Given the description of an element on the screen output the (x, y) to click on. 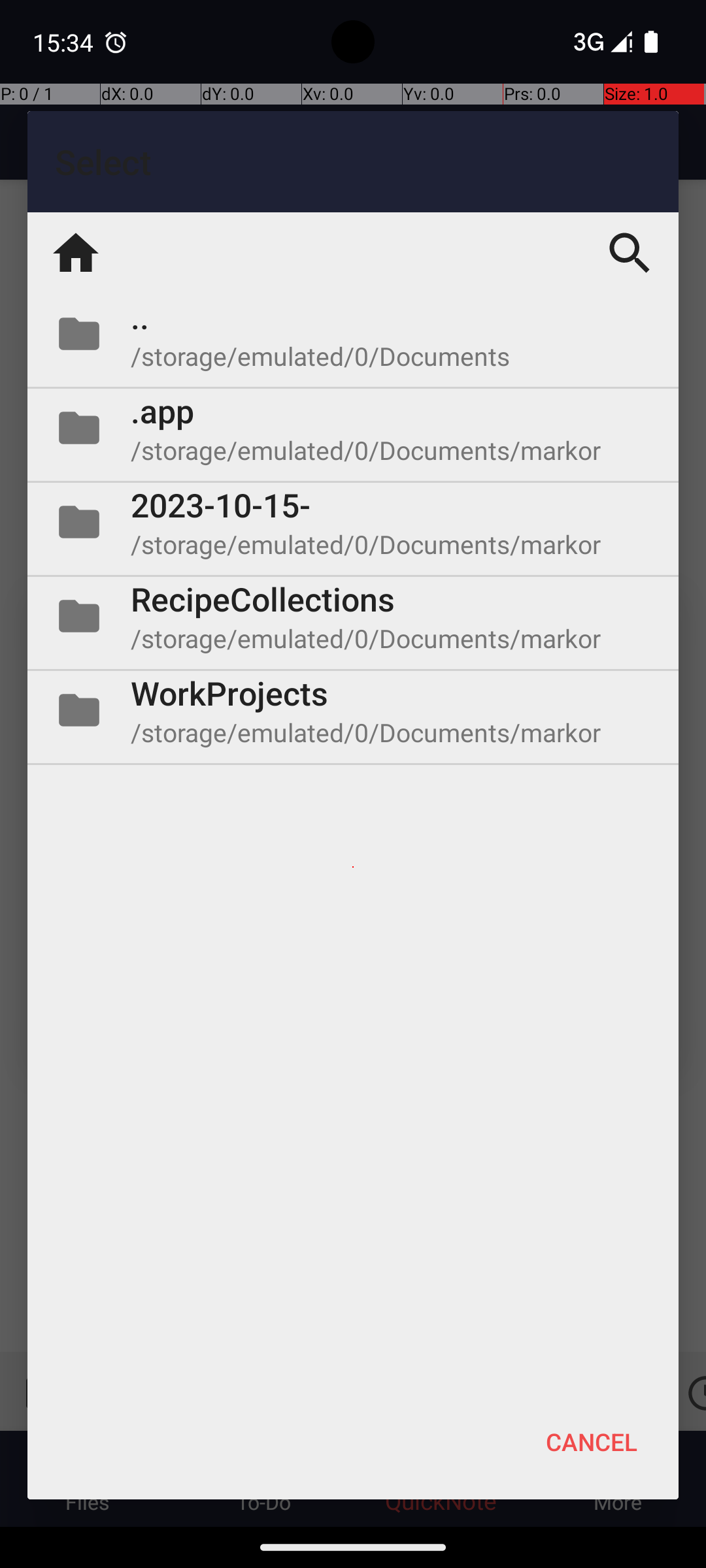
Folder .app  Element type: android.widget.LinearLayout (352, 427)
Folder 2023-10-15-  Element type: android.widget.LinearLayout (352, 521)
Folder RecipeCollections  Element type: android.widget.LinearLayout (352, 615)
Folder WorkProjects  Element type: android.widget.LinearLayout (352, 709)
